Given the description of an element on the screen output the (x, y) to click on. 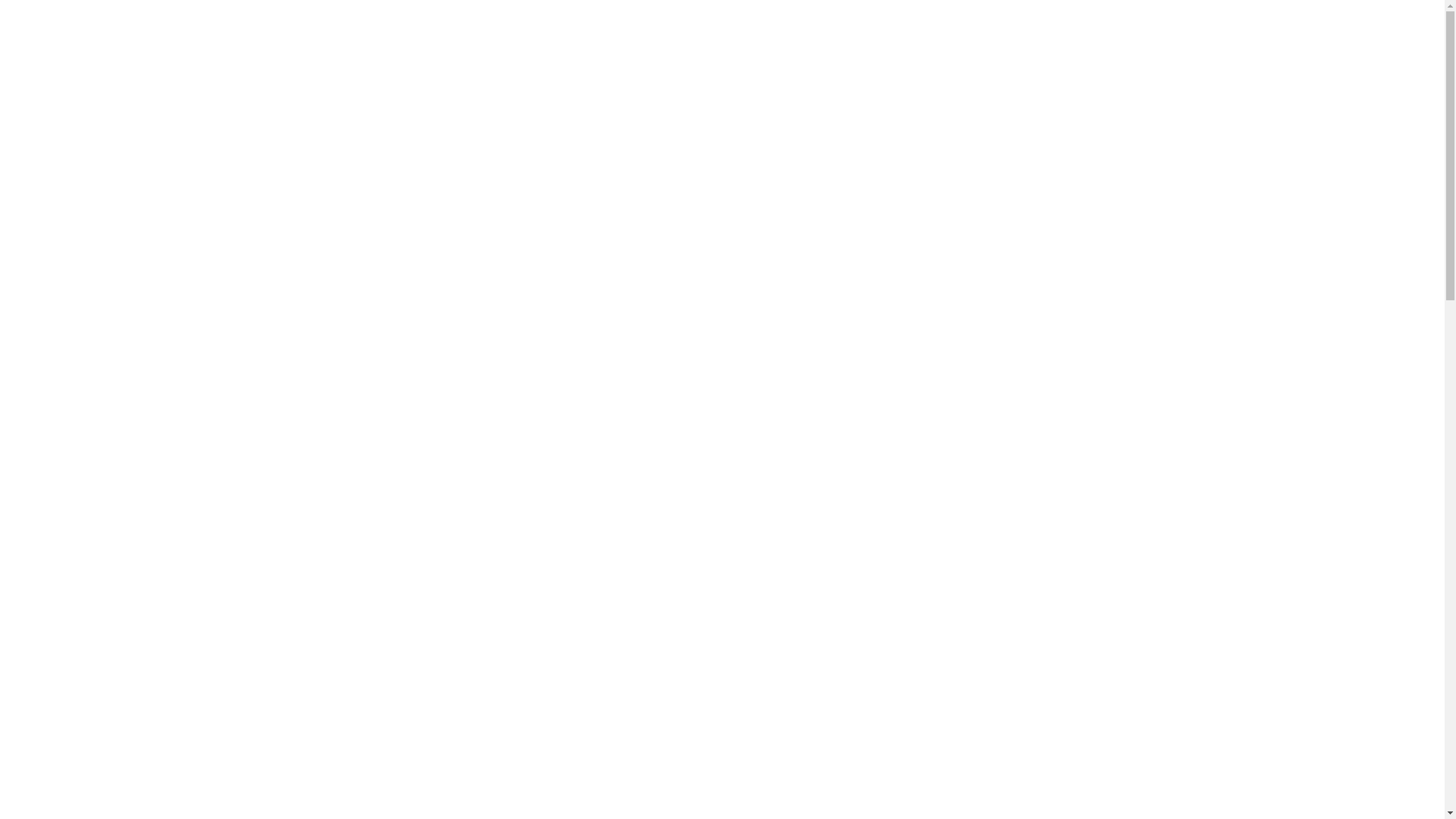
Wichtig zu wissen Element type: text (80, 340)
Home Element type: text (50, 94)
Ayurveda-Padabhyanga-Fussmassage Element type: text (127, 326)
LL Neelesh Element type: text (64, 244)
Vergangenes Element type: text (66, 463)
Ayurveda-Wellness-Kur Element type: text (94, 408)
Ayurveda-Ernaehrungsberatung Element type: text (113, 381)
Somatic-Experiencing-Trauma-Therapie Element type: text (134, 149)
Ayurveda-Abhyanga-Ganzkoerpermassage Element type: text (140, 258)
Ayurveda-Beratungen Element type: text (89, 176)
Ayurveda-Burnout-Konsultation Element type: text (114, 395)
Ayurveda-Uebergewicht-und-Fett weg Kur Element type: text (140, 449)
Kontakt Element type: text (55, 122)
Ayurveda-cranio-Sacral Element type: text (93, 272)
Unsere Leistungen Element type: text (81, 108)
Ayurveda-Behandlungen Element type: text (96, 162)
LL Krishna Element type: text (64, 217)
Schwangerschaftsmassage Element type: text (100, 285)
Ayurveda-Shirodhara-Oelstirnguss Element type: text (120, 313)
LL Christian Element type: text (67, 203)
Unser Team Element type: text (65, 190)
Ayurveda-Pristabhyanga-Rueckenmassage Element type: text (139, 299)
Ayurveda-Aerztliche-Konsultation Element type: text (120, 367)
Gutscheine Element type: text (63, 422)
MAPS Element type: text (52, 435)
LL Paola Element type: text (58, 231)
Unsere Klienten Element type: text (75, 354)
